Given the description of an element on the screen output the (x, y) to click on. 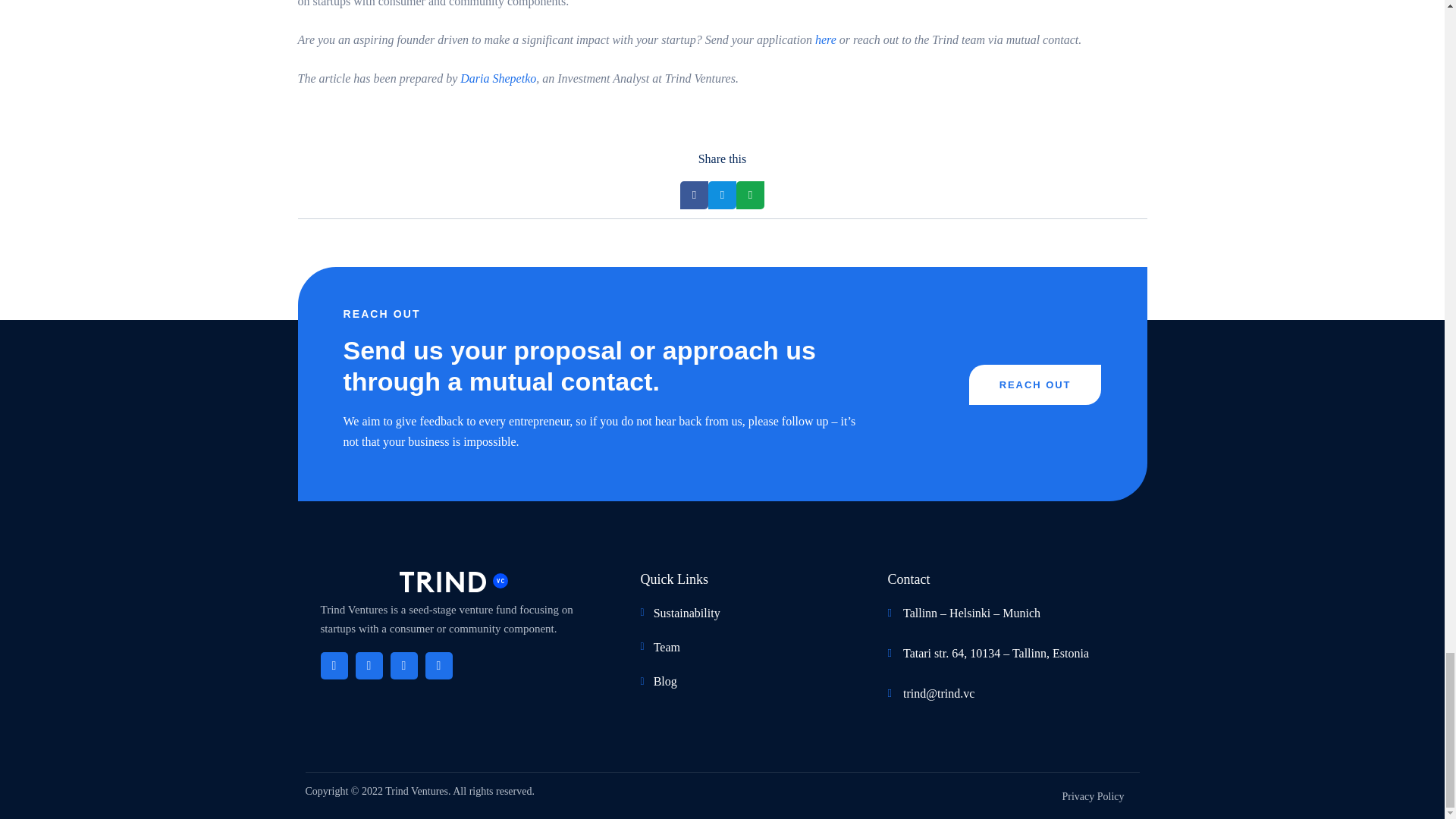
Team (740, 647)
REACH OUT (1035, 384)
Blog (740, 680)
Daria Shepetko (497, 78)
Sustainability (740, 612)
here (825, 39)
